Given the description of an element on the screen output the (x, y) to click on. 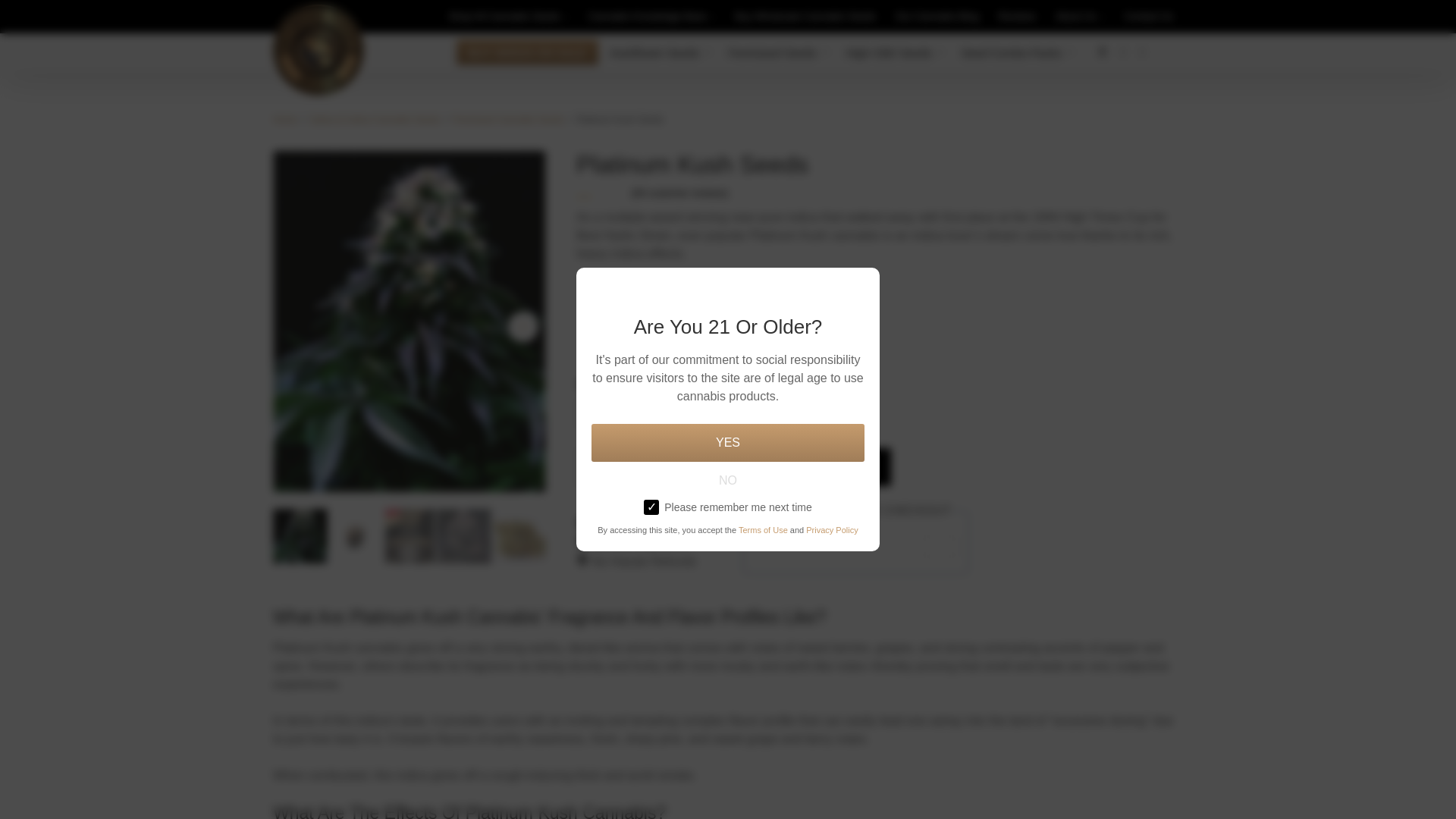
Our Cannabis Blog (936, 16)
About Growers Choice Cannabis Seeds (1076, 16)
Buy Wholesale Cannabis Seeds (805, 16)
Shop All Cannabis Seeds (504, 16)
Terms of Use (762, 529)
Check Mark (582, 541)
Reviews (1016, 16)
Check Mark (582, 522)
Autoflower Seeds (655, 52)
Cannabis Knowledge Base (647, 16)
